Given the description of an element on the screen output the (x, y) to click on. 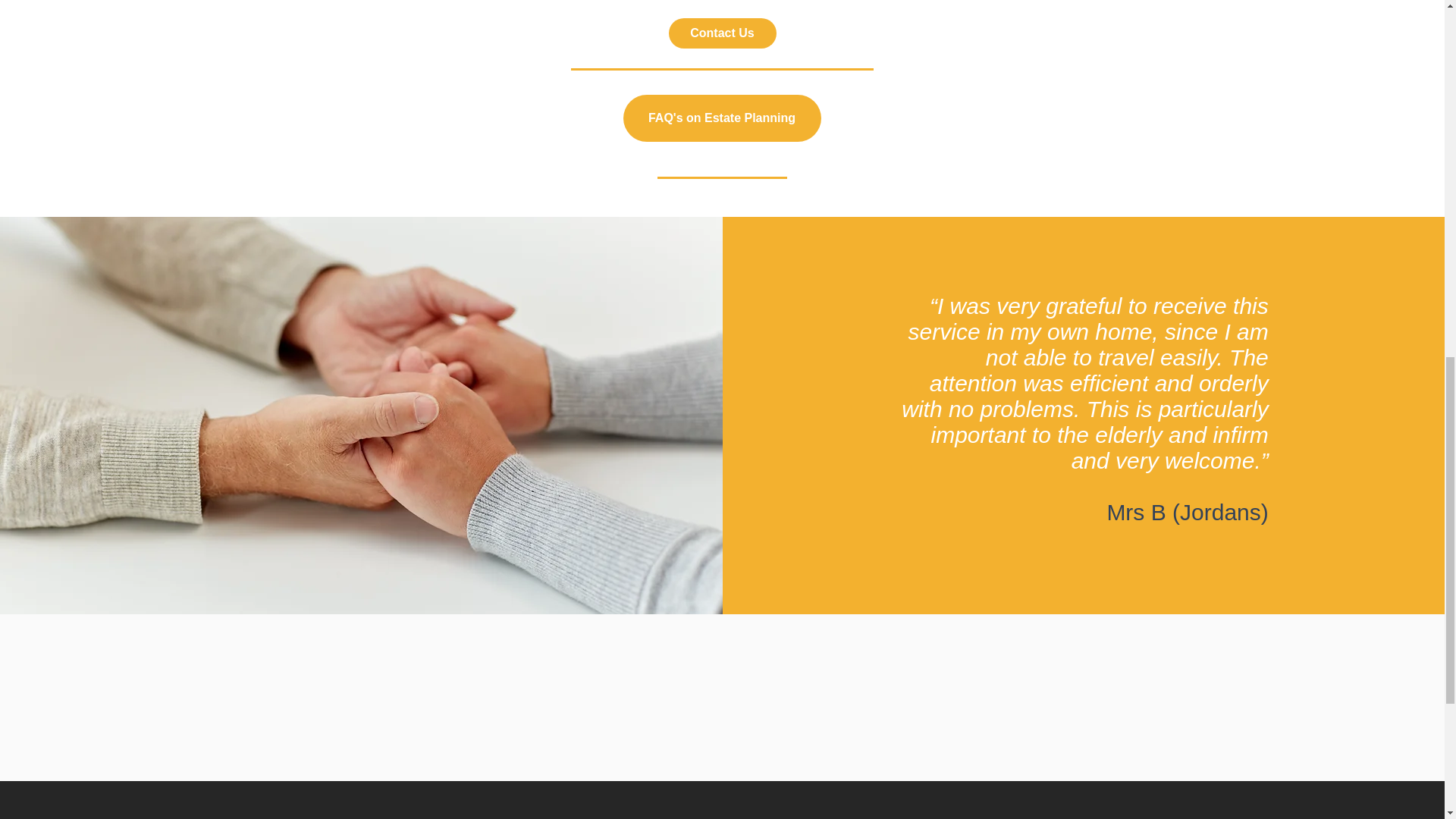
Contact Us (722, 33)
FAQ's on Estate Planning (722, 118)
